Given the description of an element on the screen output the (x, y) to click on. 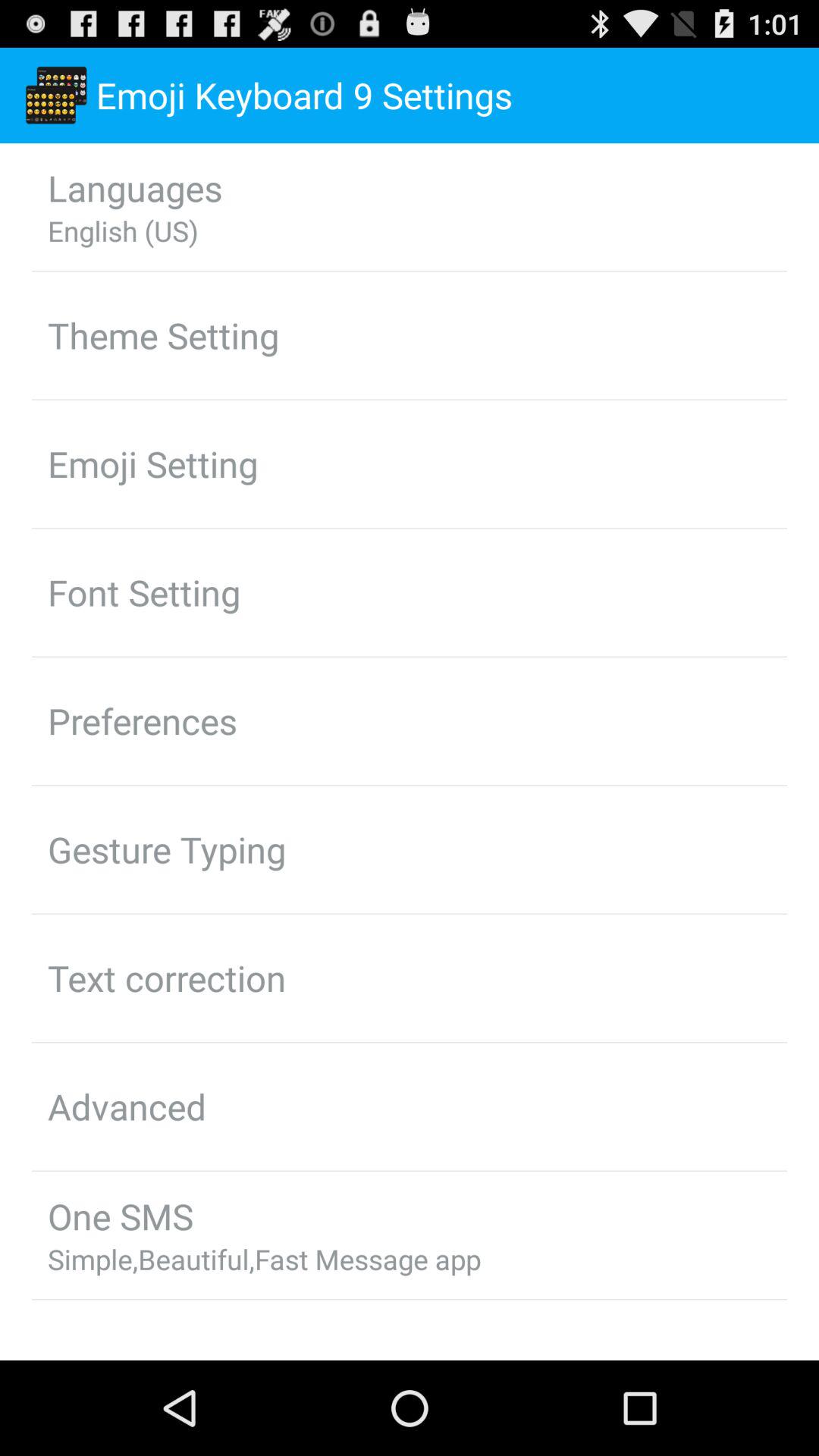
click the app below the emoji setting item (143, 592)
